Given the description of an element on the screen output the (x, y) to click on. 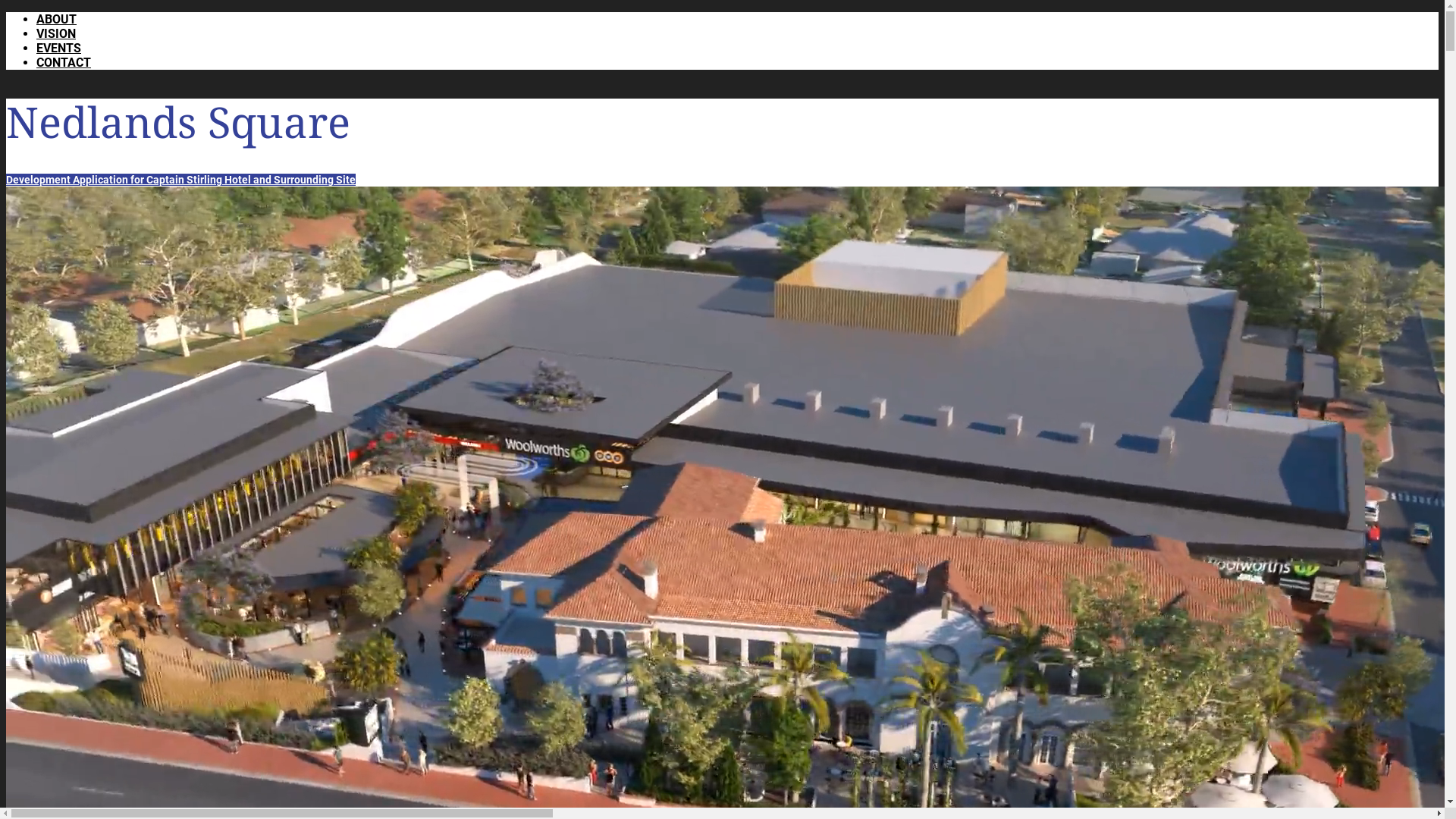
VISION Element type: text (55, 33)
CONTACT Element type: text (63, 62)
ABOUT Element type: text (56, 19)
EVENTS Element type: text (58, 47)
